Given the description of an element on the screen output the (x, y) to click on. 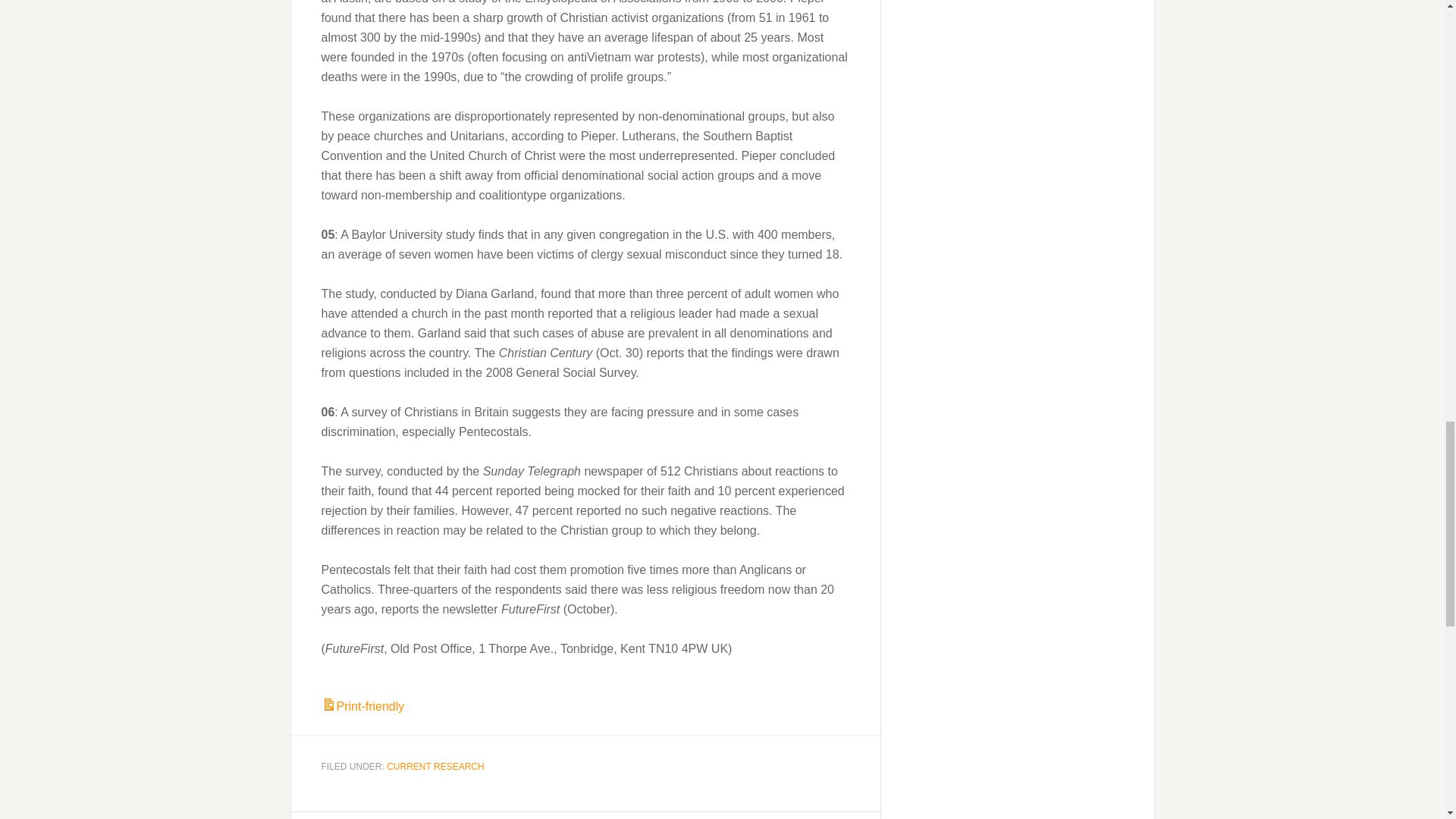
Print-friendly (362, 706)
CURRENT RESEARCH (435, 766)
